Given the description of an element on the screen output the (x, y) to click on. 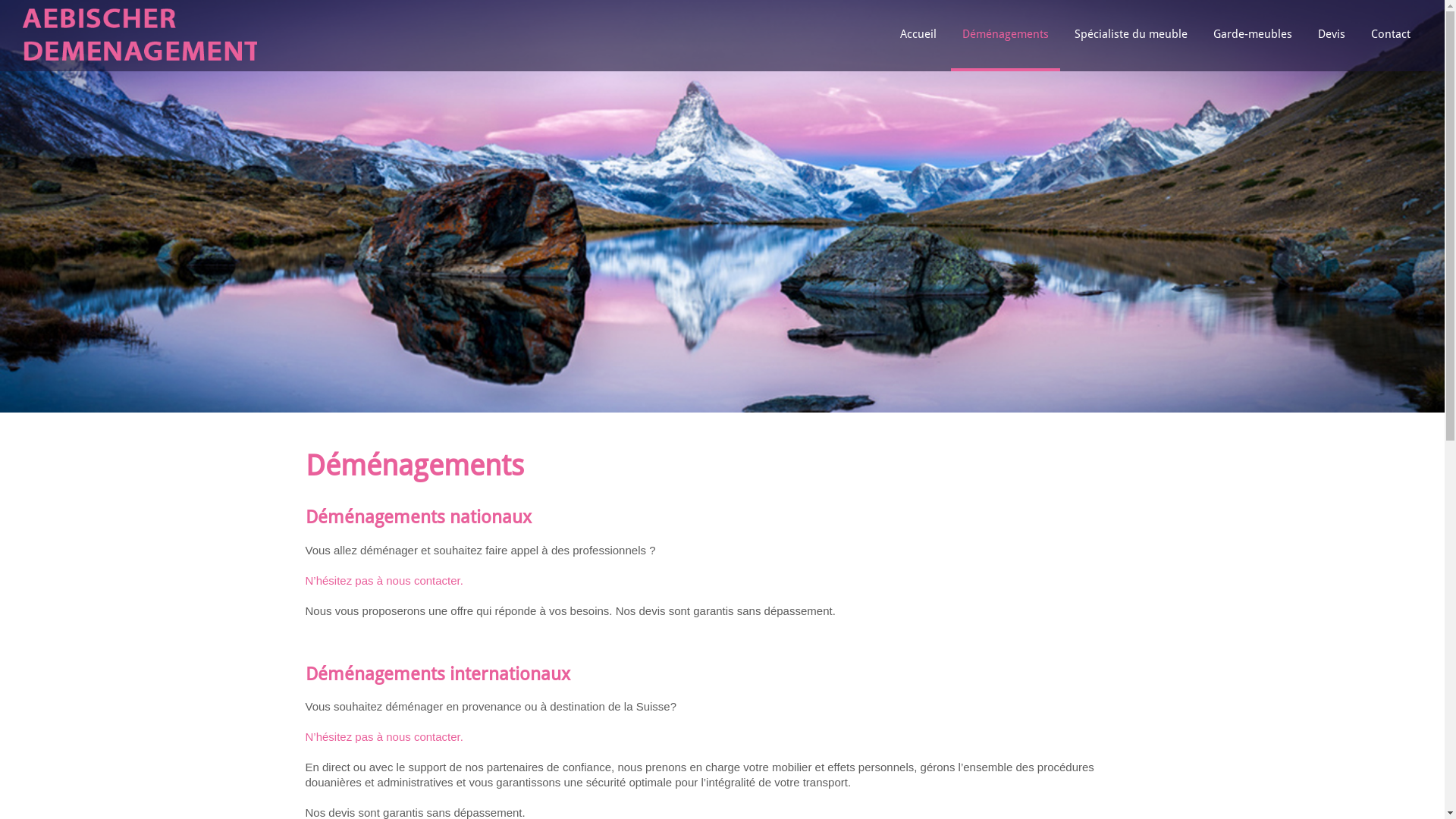
Accueil Element type: text (917, 35)
Garde-meubles Element type: text (1252, 35)
Contact Element type: text (1390, 35)
Devis Element type: text (1331, 35)
